Given the description of an element on the screen output the (x, y) to click on. 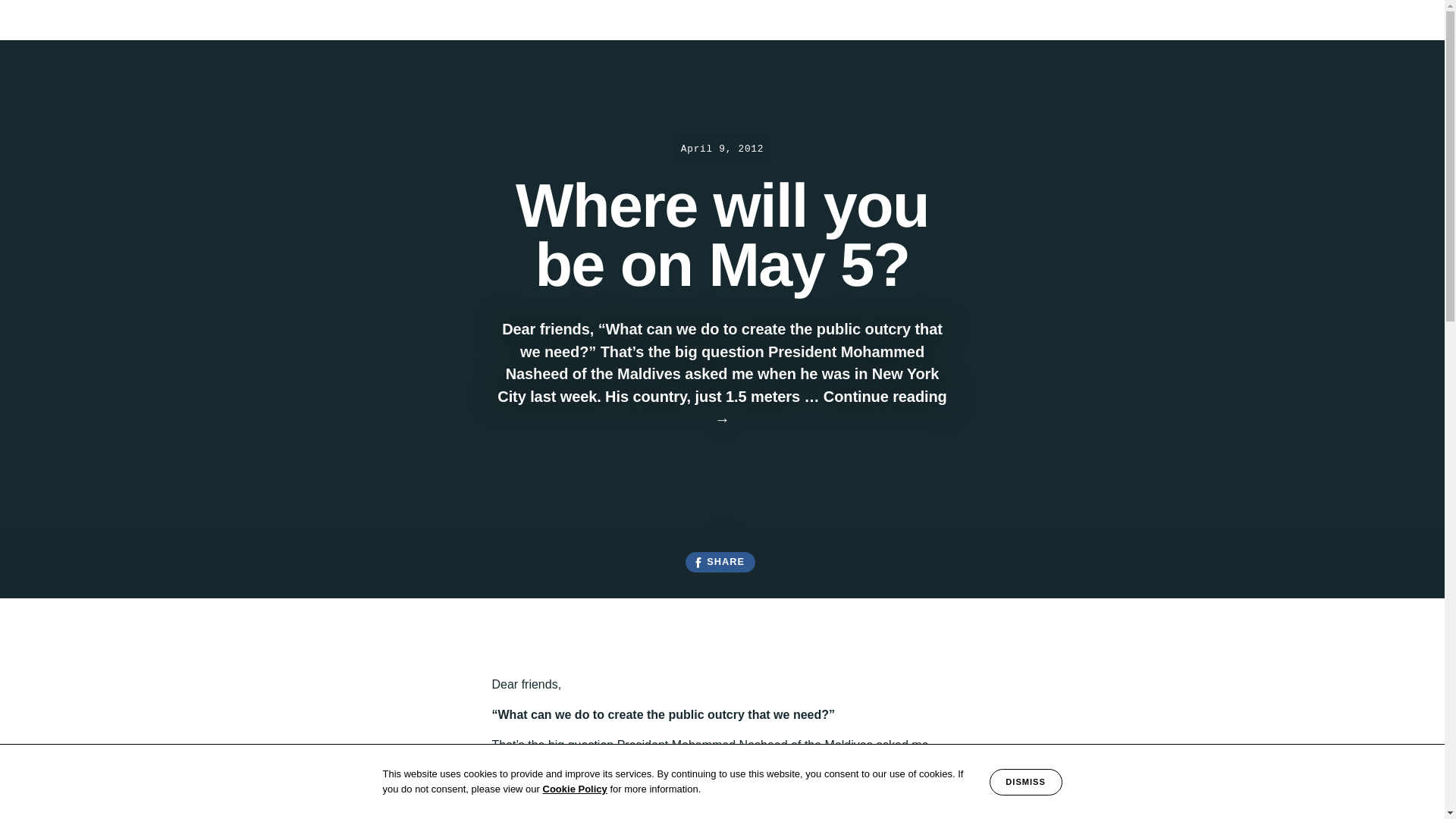
Cookie Policy (575, 788)
DISMISS (1026, 782)
SHARE (719, 562)
